Given the description of an element on the screen output the (x, y) to click on. 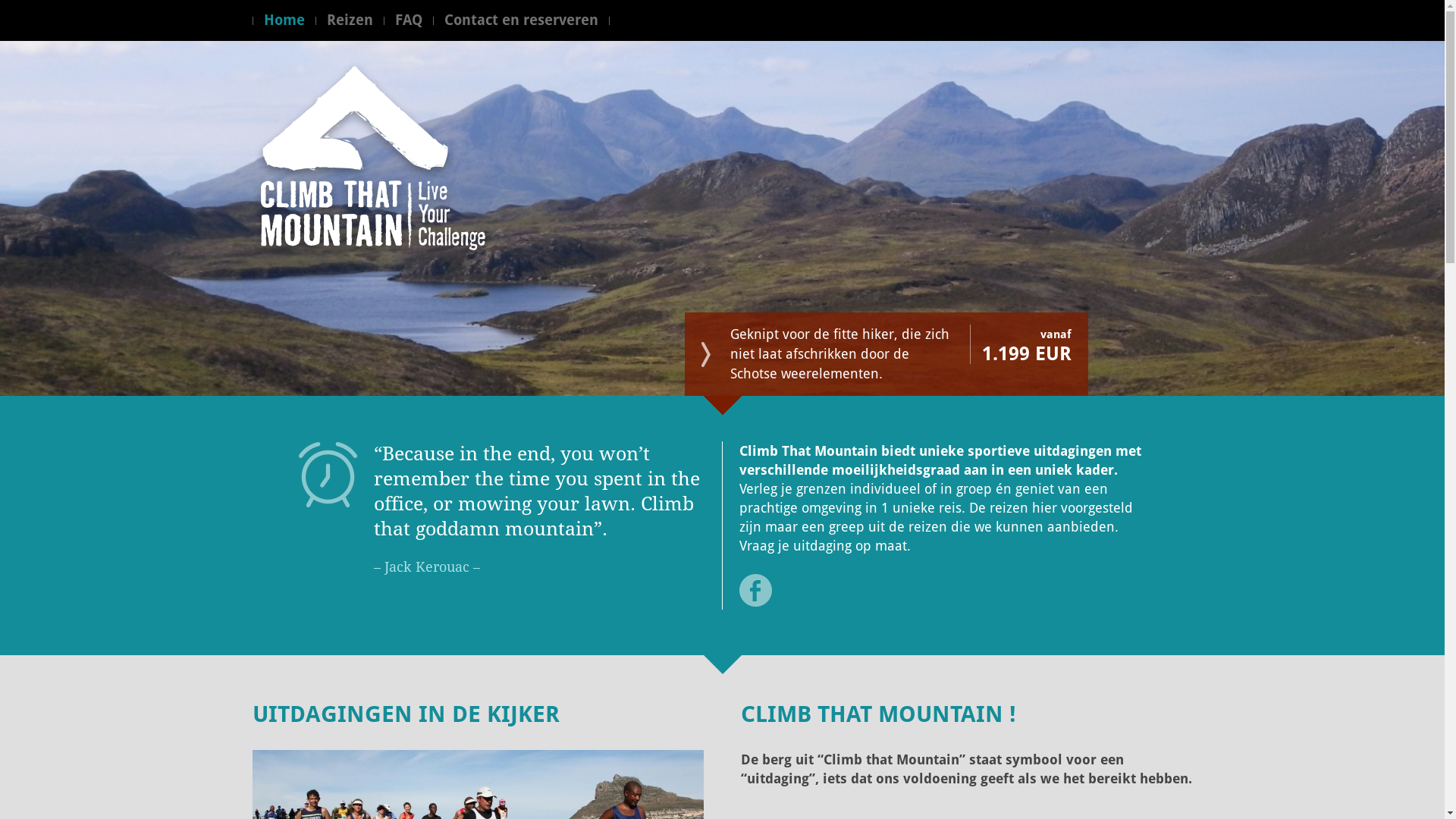
Home Element type: text (288, 20)
FAQ Element type: text (418, 20)
Reizen Element type: text (360, 20)
Contact en reserveren Element type: text (532, 20)
